Given the description of an element on the screen output the (x, y) to click on. 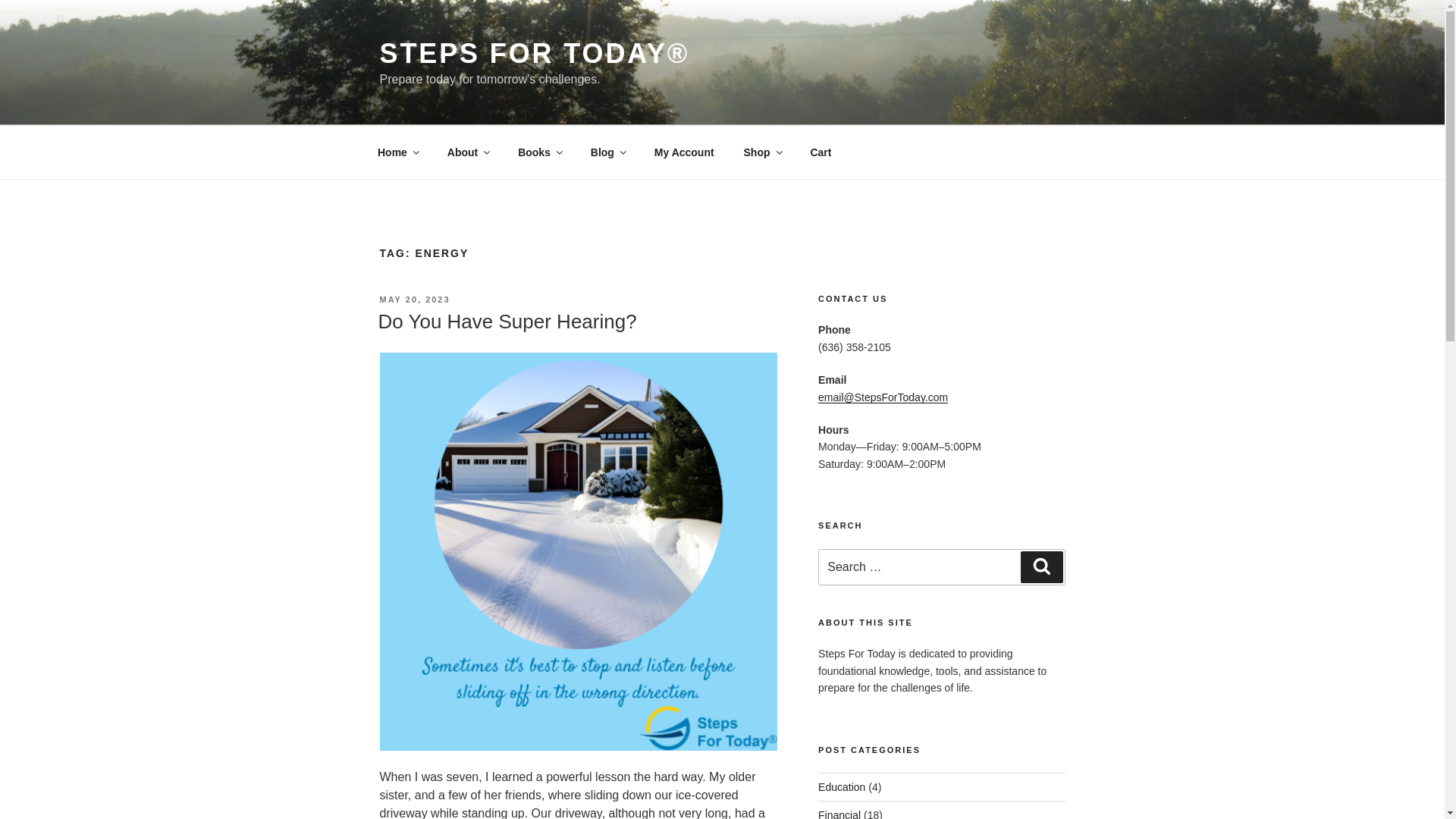
Blog (606, 151)
Home (397, 151)
MAY 20, 2023 (413, 298)
About (466, 151)
Cart (820, 151)
My Account (683, 151)
Shop (761, 151)
Books (540, 151)
Do You Have Super Hearing? (506, 321)
